Given the description of an element on the screen output the (x, y) to click on. 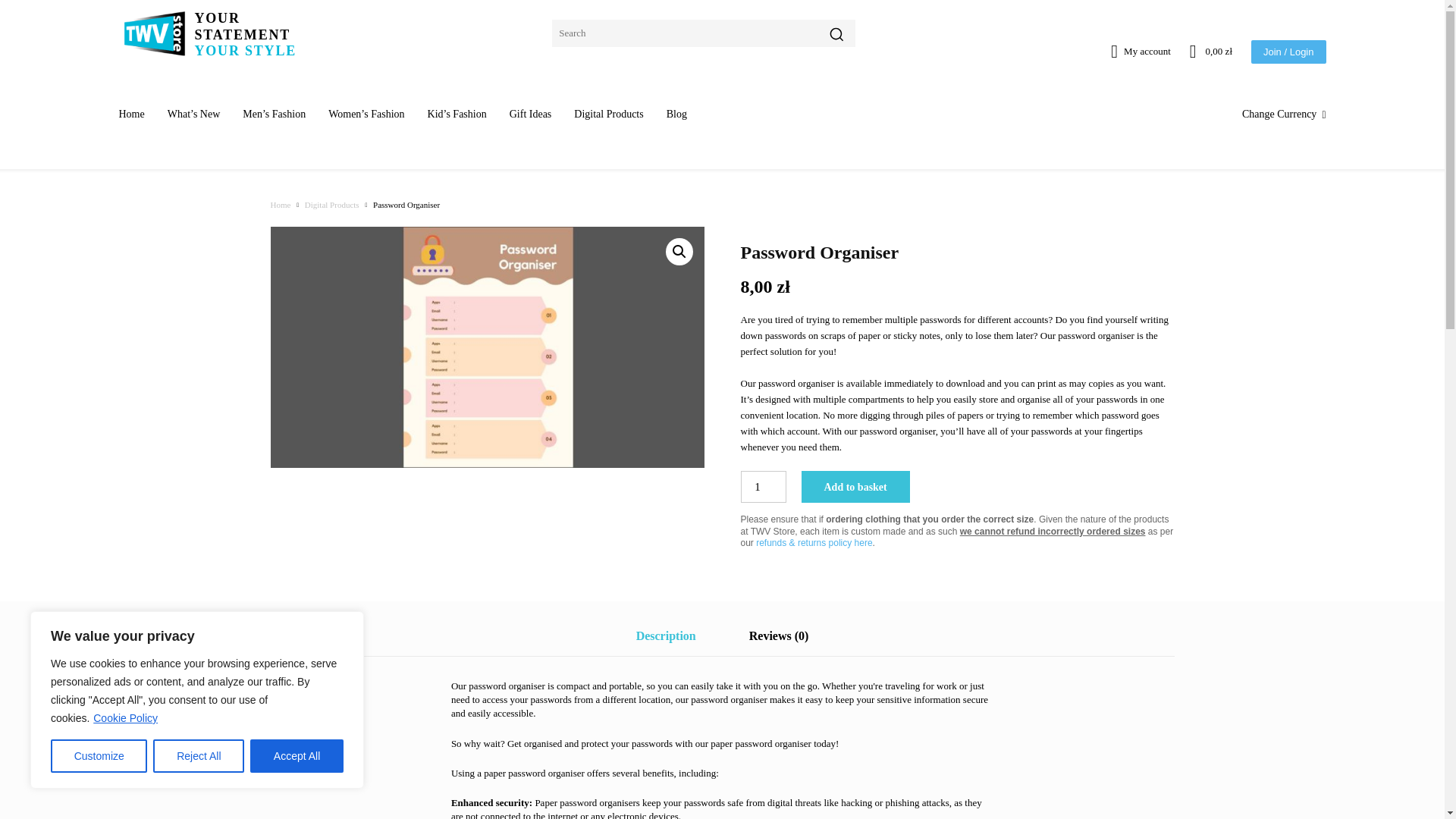
Accept All (296, 756)
Customize (98, 756)
Cookie Policy (125, 717)
password organiser (486, 346)
1 (762, 486)
Reject All (198, 756)
